Given the description of an element on the screen output the (x, y) to click on. 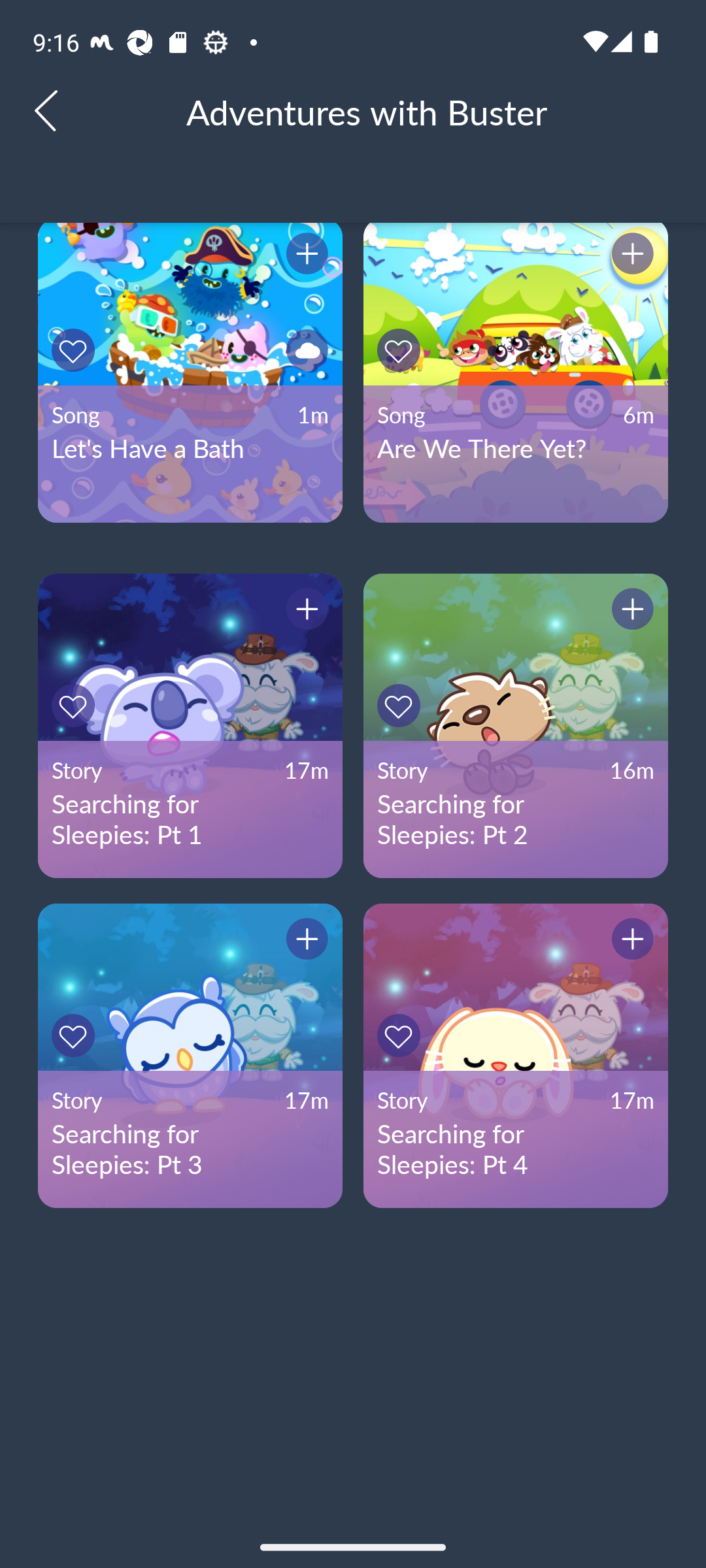
Button (304, 255)
Button (629, 255)
Button (76, 350)
Button (401, 350)
Button (304, 611)
Button (629, 611)
Button (76, 705)
Button (401, 705)
Button (304, 941)
Button (629, 941)
Button (76, 1035)
Button (401, 1035)
